Given the description of an element on the screen output the (x, y) to click on. 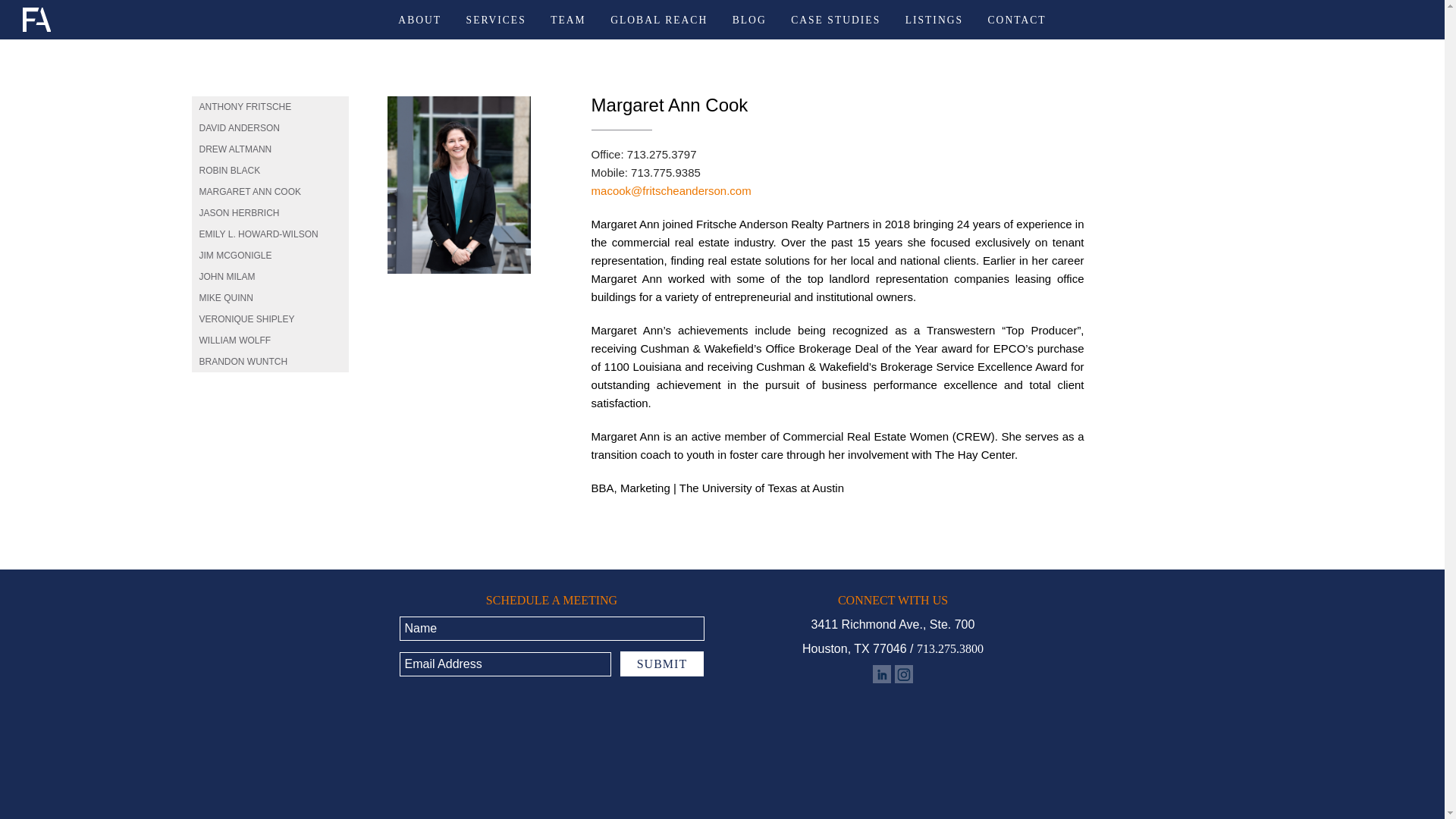
SUBMIT (661, 663)
BLOG (749, 20)
JIM MCGONIGLE (269, 255)
EMILY L. HOWARD-WILSON (269, 233)
ANTHONY FRITSCHE (269, 106)
CASE STUDIES (835, 20)
DREW ALTMANN (269, 148)
GLOBAL REACH (658, 20)
713.275.3800 (950, 648)
VERONIQUE SHIPLEY (269, 319)
